Given the description of an element on the screen output the (x, y) to click on. 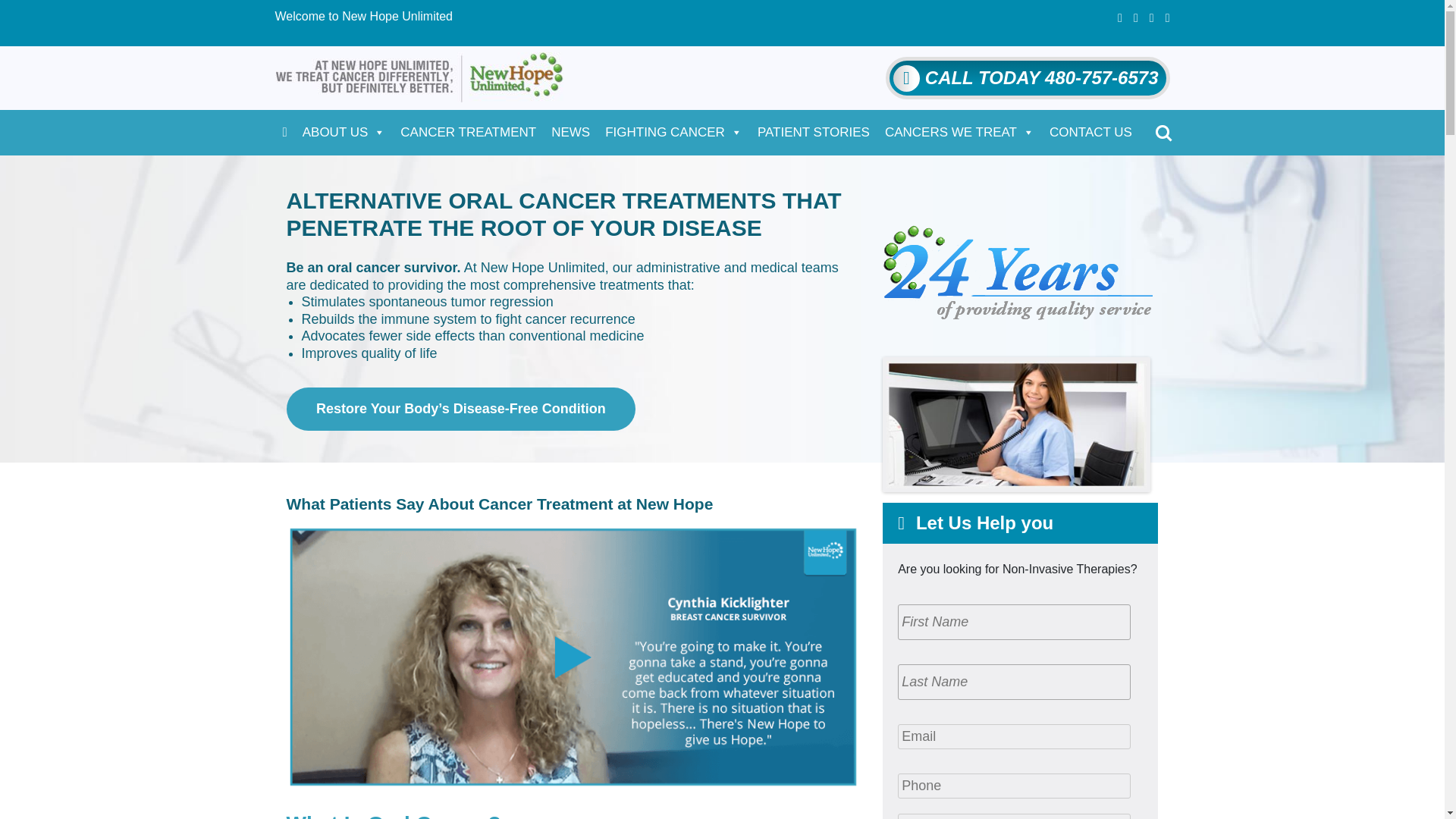
ABOUT US (344, 132)
CONTACT US (1091, 132)
CALL TODAY 480-757-6573 (904, 78)
FIGHTING CANCER (672, 132)
Search (16, 11)
CANCER TREATMENT (468, 132)
PATIENT STORIES (813, 132)
